Given the description of an element on the screen output the (x, y) to click on. 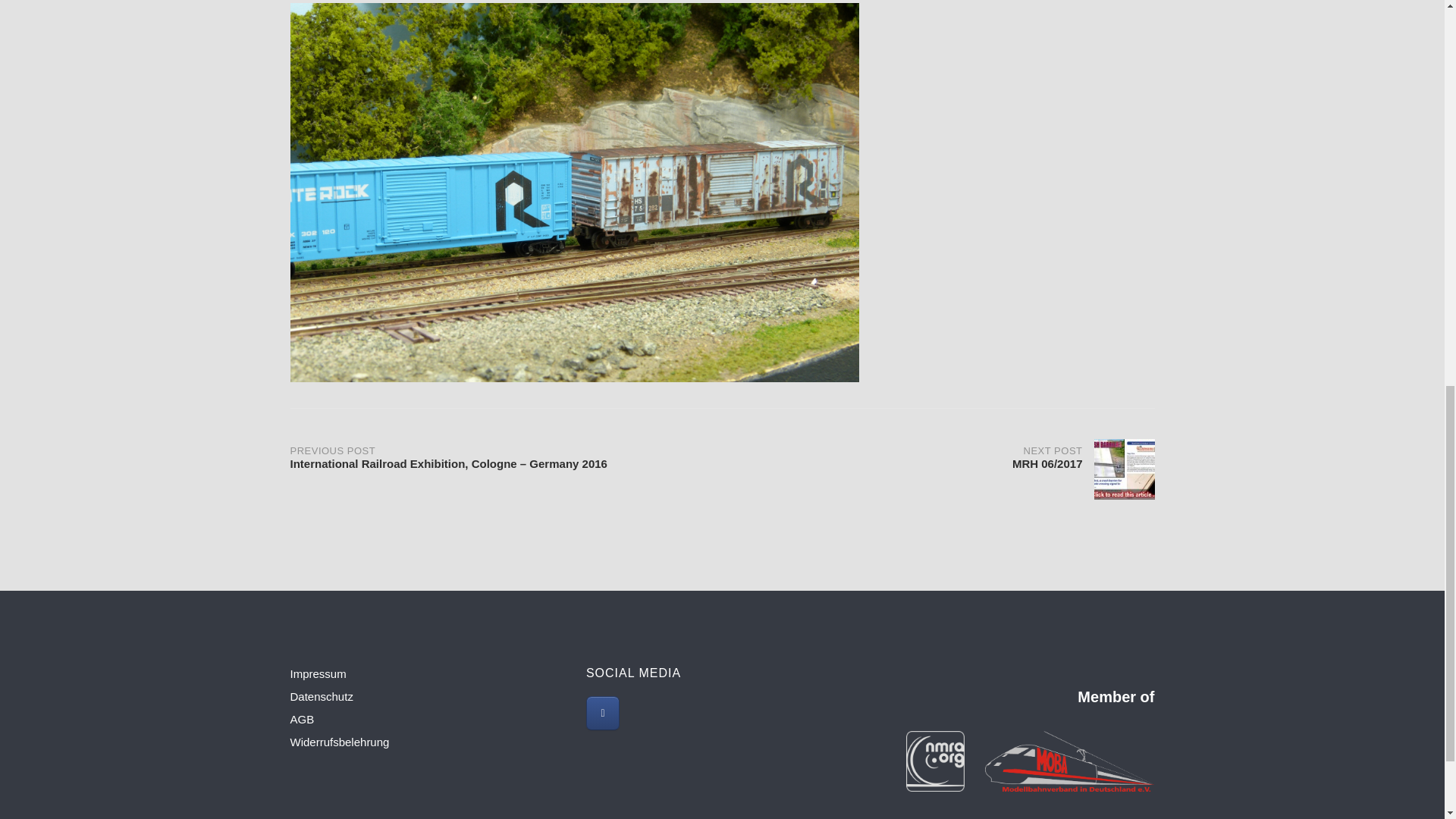
NScaleWorks.com on Facebook (603, 713)
Impressum (317, 673)
AGB (301, 718)
Datenschutz (320, 696)
Widerrufsbelehrung (338, 741)
